Given the description of an element on the screen output the (x, y) to click on. 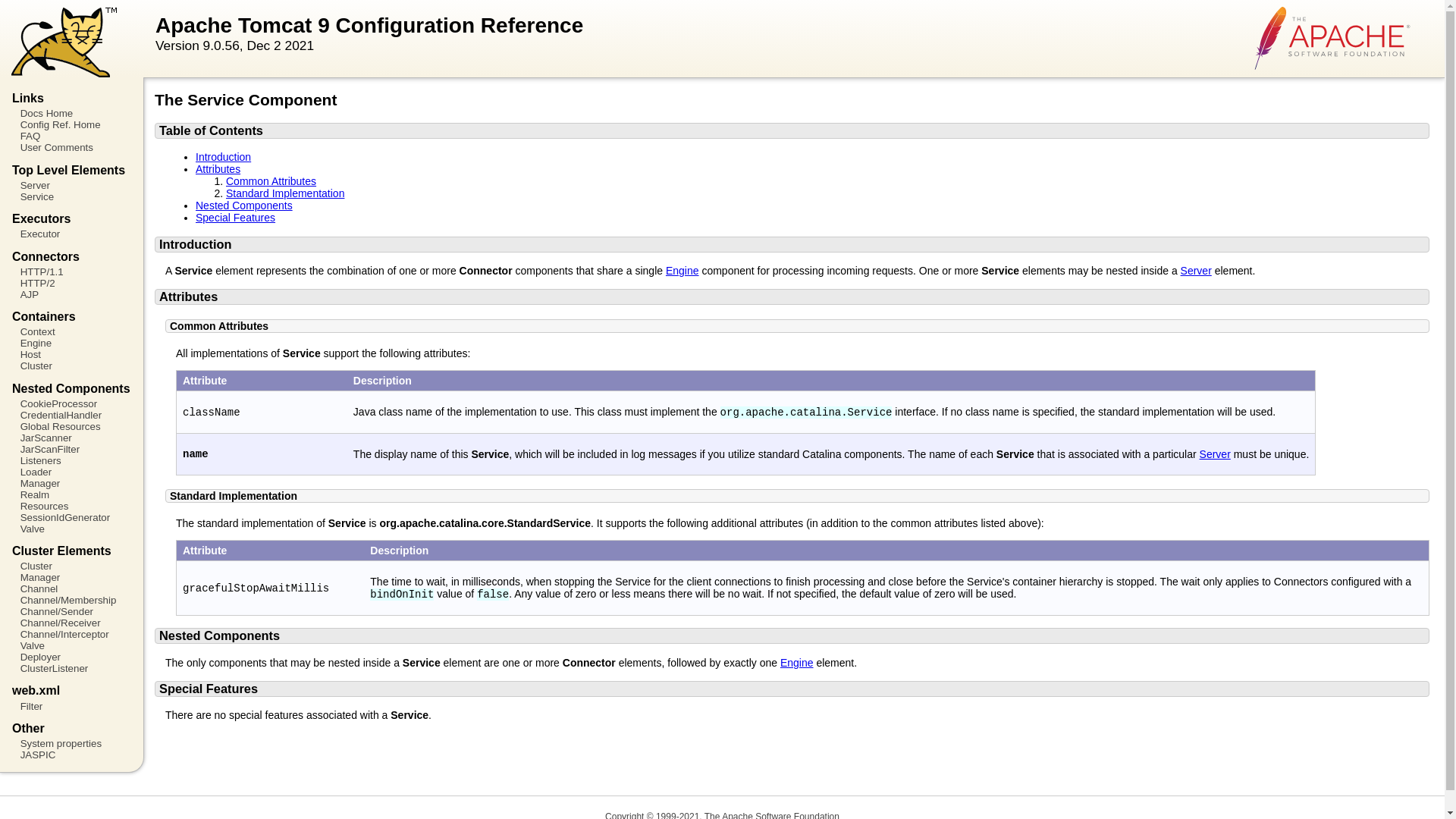
Listeners (71, 460)
Channel (71, 588)
ClusterListener (71, 668)
Realm (71, 494)
User Comments (71, 147)
Docs Home (71, 112)
Service (71, 196)
Valve (71, 528)
Resources (71, 505)
SessionIdGenerator (71, 517)
AJP (71, 294)
Deployer (71, 656)
Cluster (71, 565)
Server (71, 184)
Host (71, 354)
